Given the description of an element on the screen output the (x, y) to click on. 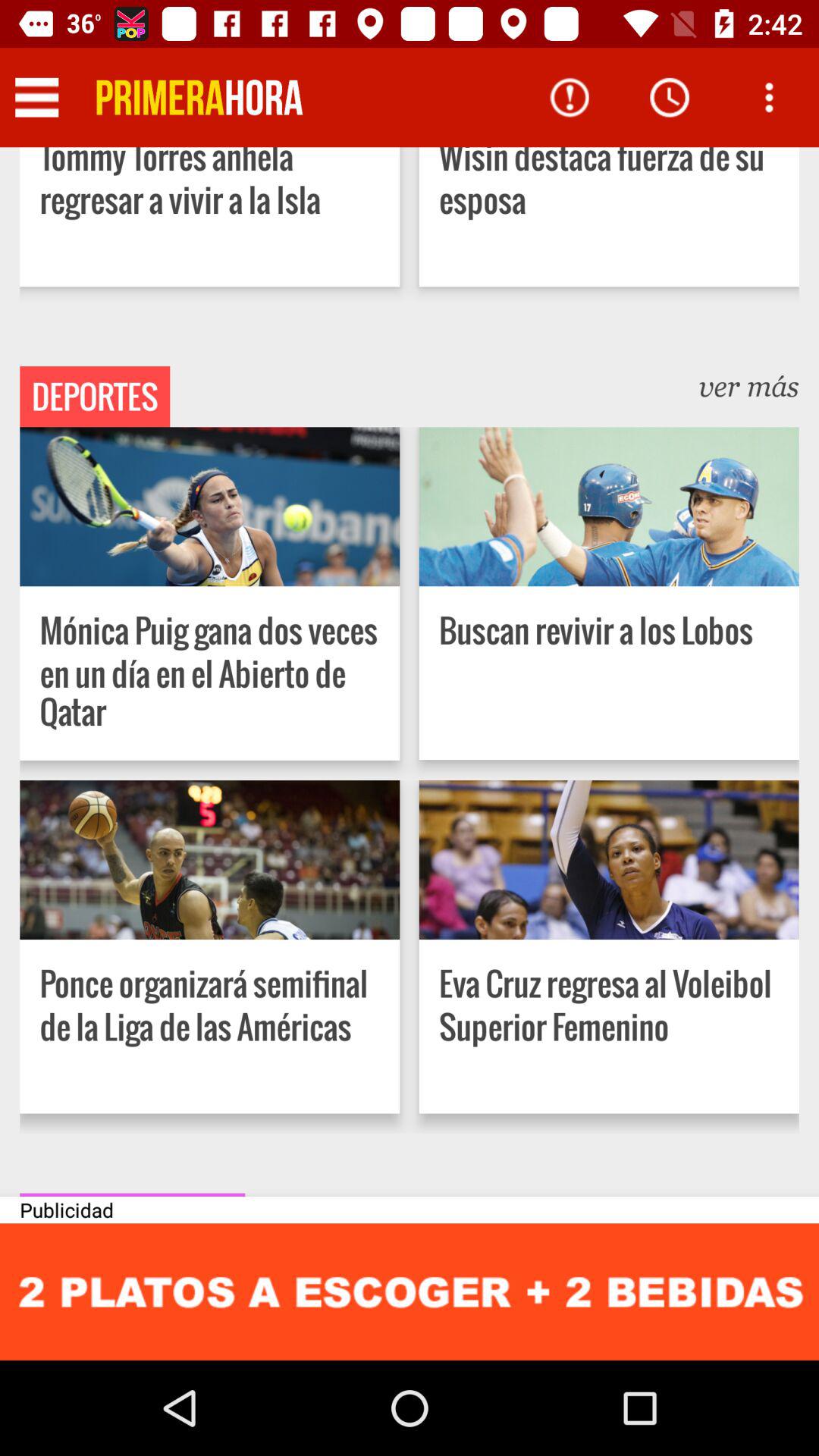
click the app above tommy torres anhela (199, 97)
